Given the description of an element on the screen output the (x, y) to click on. 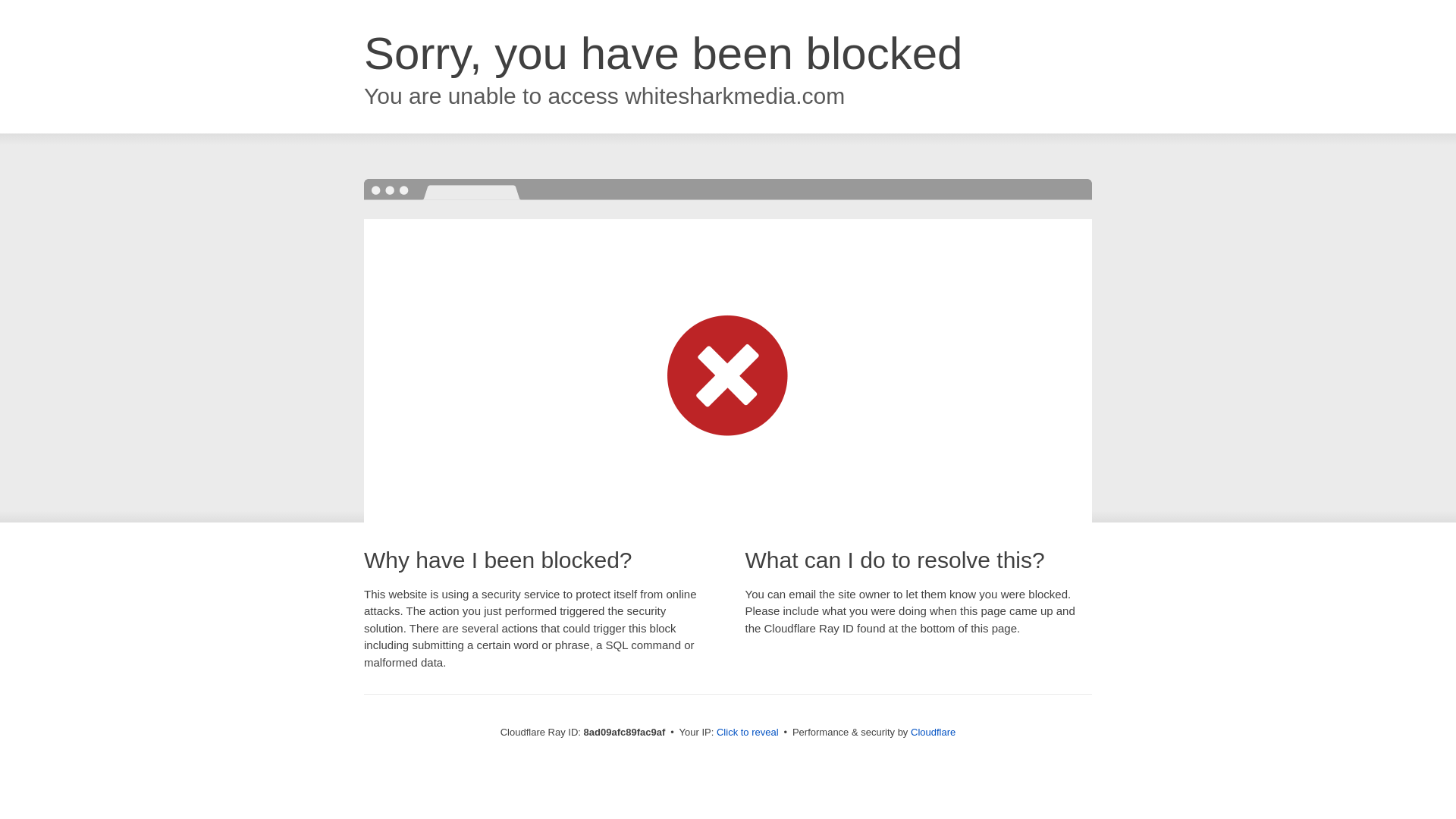
Cloudflare (933, 731)
Click to reveal (747, 732)
